Given the description of an element on the screen output the (x, y) to click on. 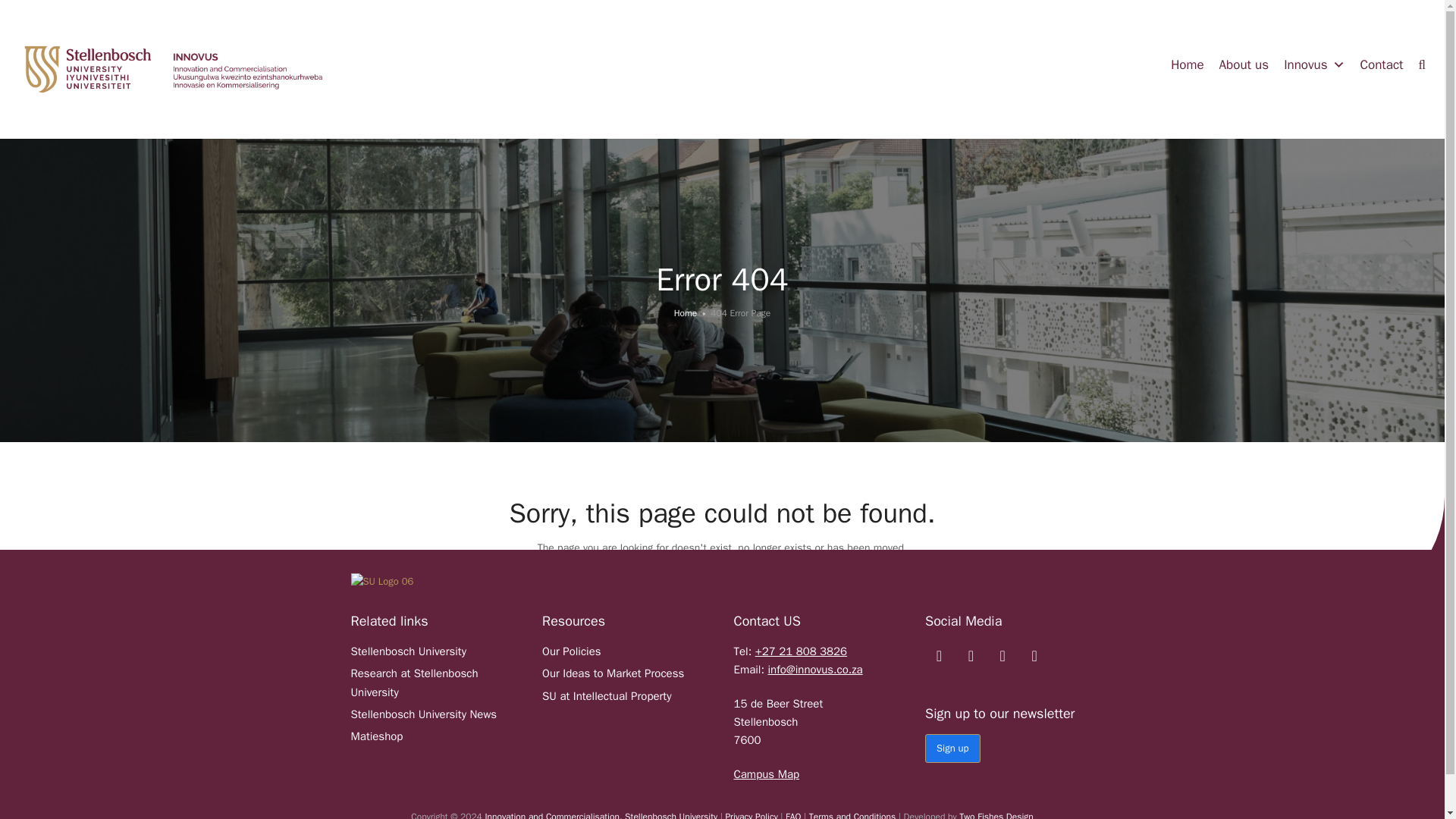
Twitter (1034, 656)
About us (1243, 64)
LinkedIn (970, 656)
YouTube (1002, 656)
Facebook (938, 656)
Innovus (1314, 64)
Contact (1381, 64)
Home (1187, 64)
